Given the description of an element on the screen output the (x, y) to click on. 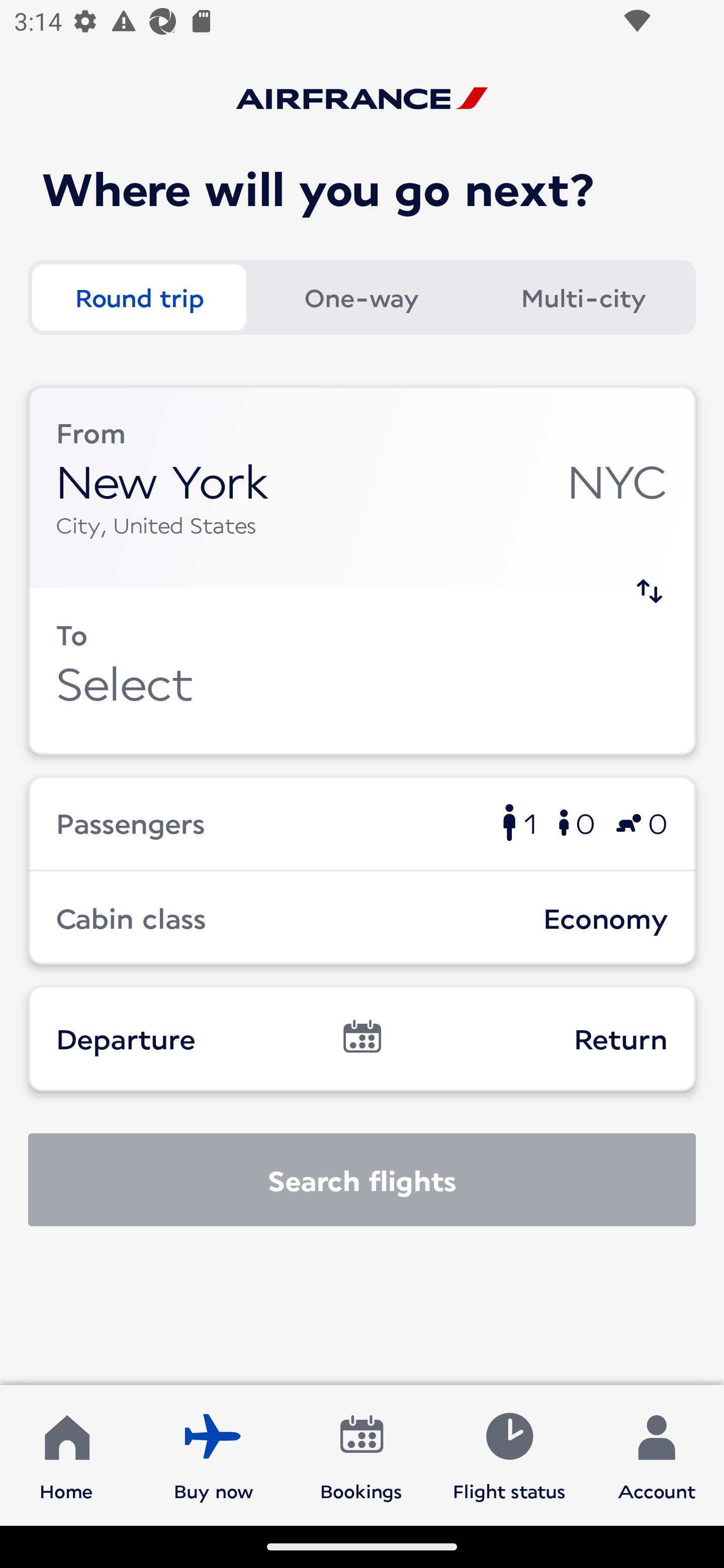
Round trip (139, 297)
One-way (361, 297)
Multi-city (583, 297)
From New York NYC City, United States (361, 486)
To Select (361, 671)
Passengers 1 0 0 (361, 822)
Cabin class Economy (361, 917)
Departure Return (361, 1038)
Search flights (361, 1179)
Home (66, 1454)
Bookings (361, 1454)
Flight status (509, 1454)
Account (657, 1454)
